Given the description of an element on the screen output the (x, y) to click on. 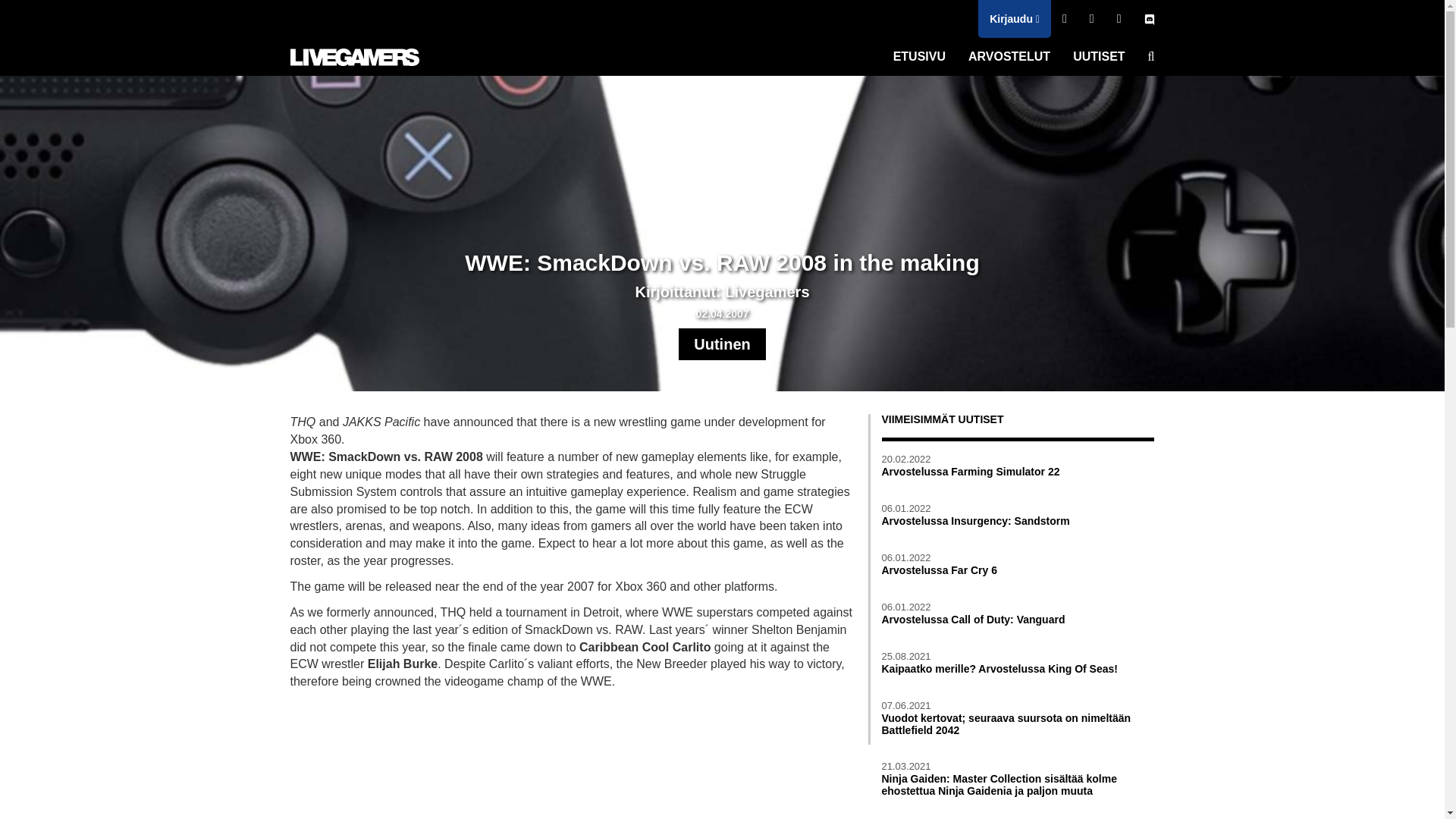
Arvostelussa Insurgency: Sandstorm (1017, 521)
Kirjaudu (1014, 18)
Arvostelussa Farming Simulator 22 (1017, 471)
UUTISET (1098, 56)
ARVOSTELUT (1008, 56)
Arvostelussa Call of Duty: Vanguard (1017, 619)
Kaipaatko merille? Arvostelussa King Of Seas! (1017, 668)
ETUSIVU (919, 56)
Arvostelussa Far Cry 6 (1017, 570)
